Given the description of an element on the screen output the (x, y) to click on. 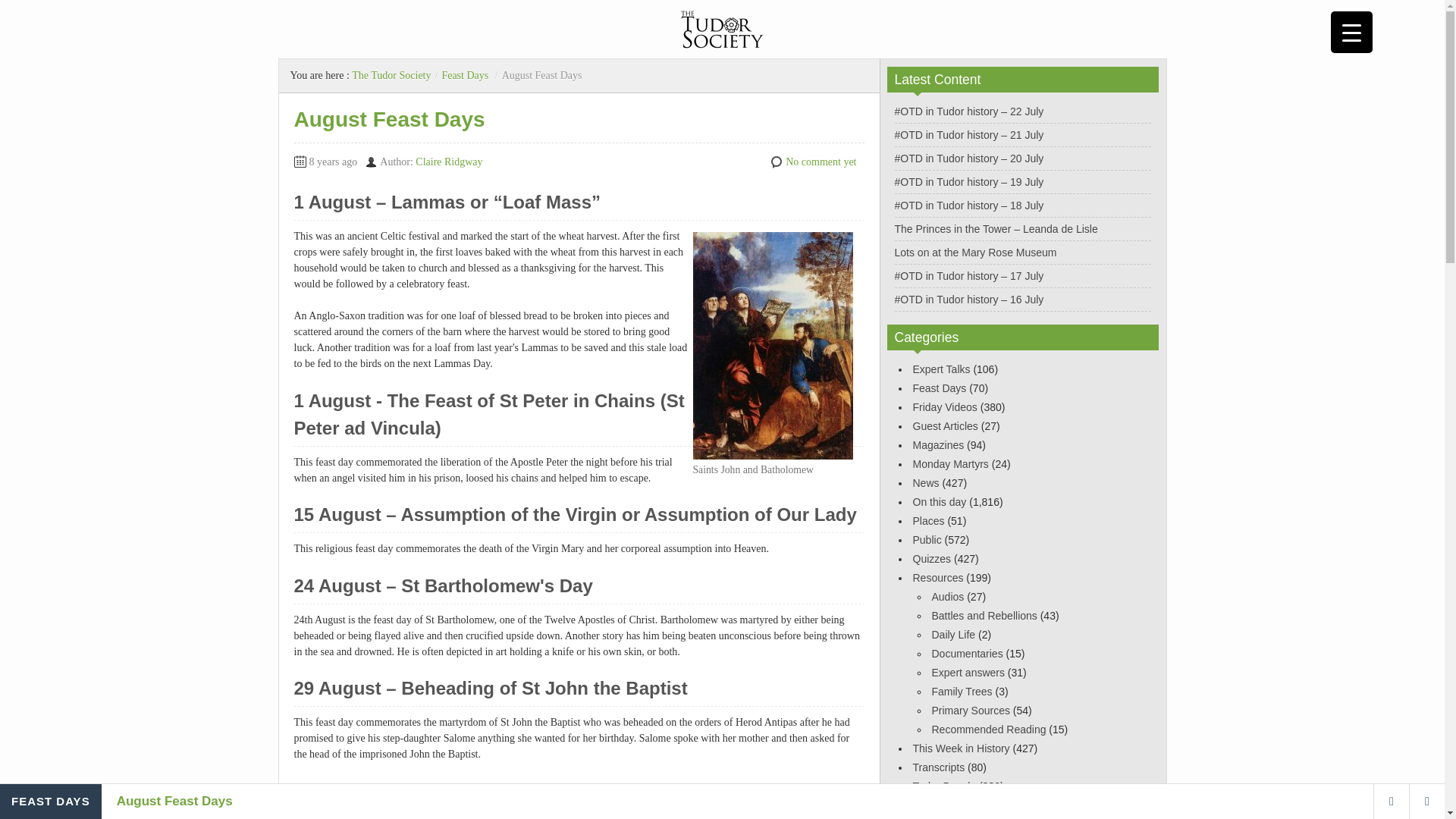
Tudor Feast Days (432, 816)
Lots on at the Mary Rose Museum (976, 252)
Guest Articles (945, 426)
Feast Days (939, 387)
Feast Days (379, 796)
Expert Talks (941, 369)
Feast Days (464, 75)
Magazines (937, 444)
Claire Ridgway (447, 161)
Friday Videos (944, 407)
The Tudor Society (391, 75)
Saints' days (362, 816)
News (925, 482)
No comment yet (821, 161)
Monday Martyrs (950, 463)
